Given the description of an element on the screen output the (x, y) to click on. 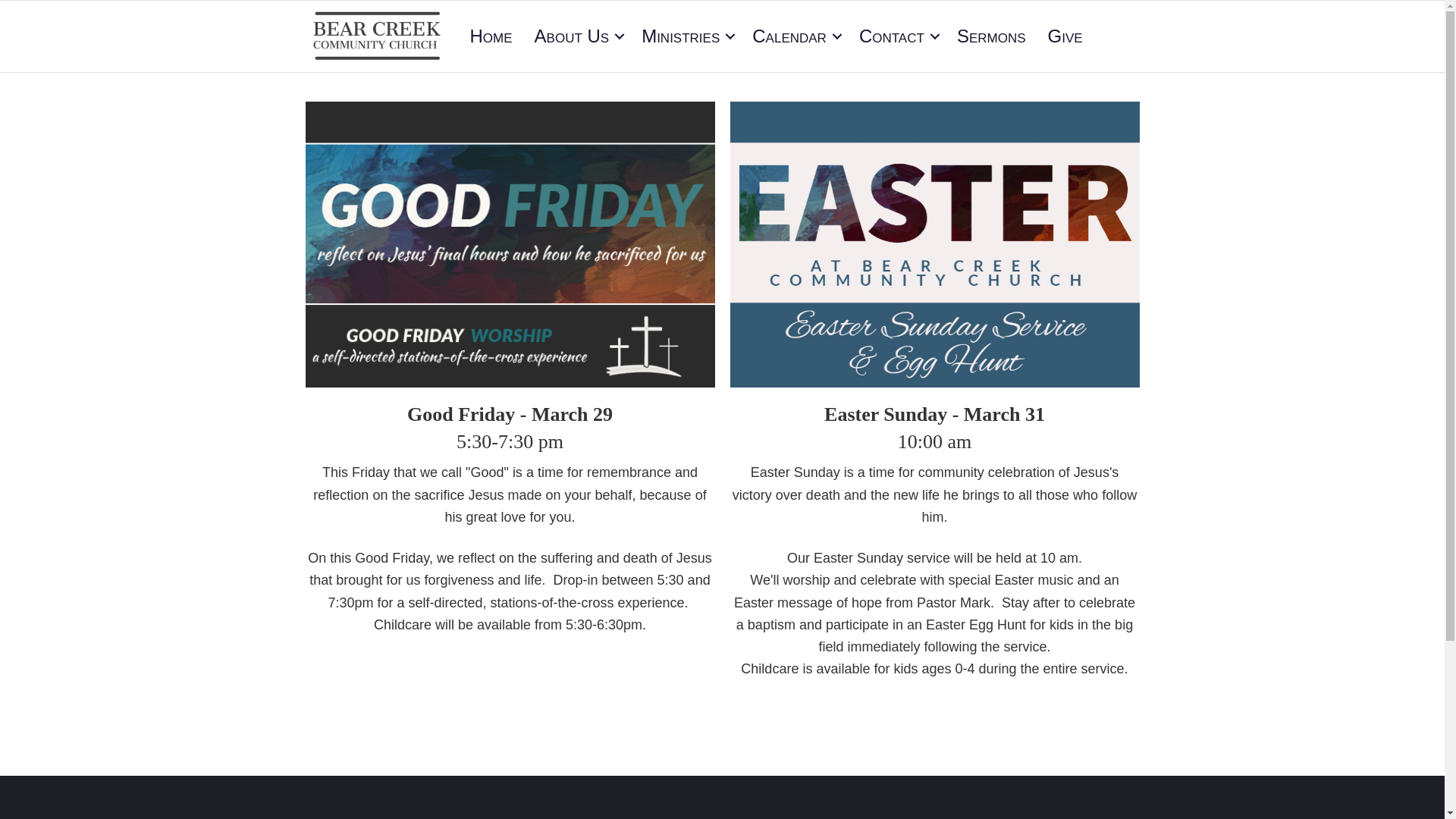
Home (491, 35)
Contact (896, 35)
About Us (577, 35)
Webpage Good Friday Image (509, 244)
Calendar (794, 35)
Easter Webpage jpg (933, 244)
Sermons (991, 35)
Ministries (685, 35)
Give (1064, 35)
